Given the description of an element on the screen output the (x, y) to click on. 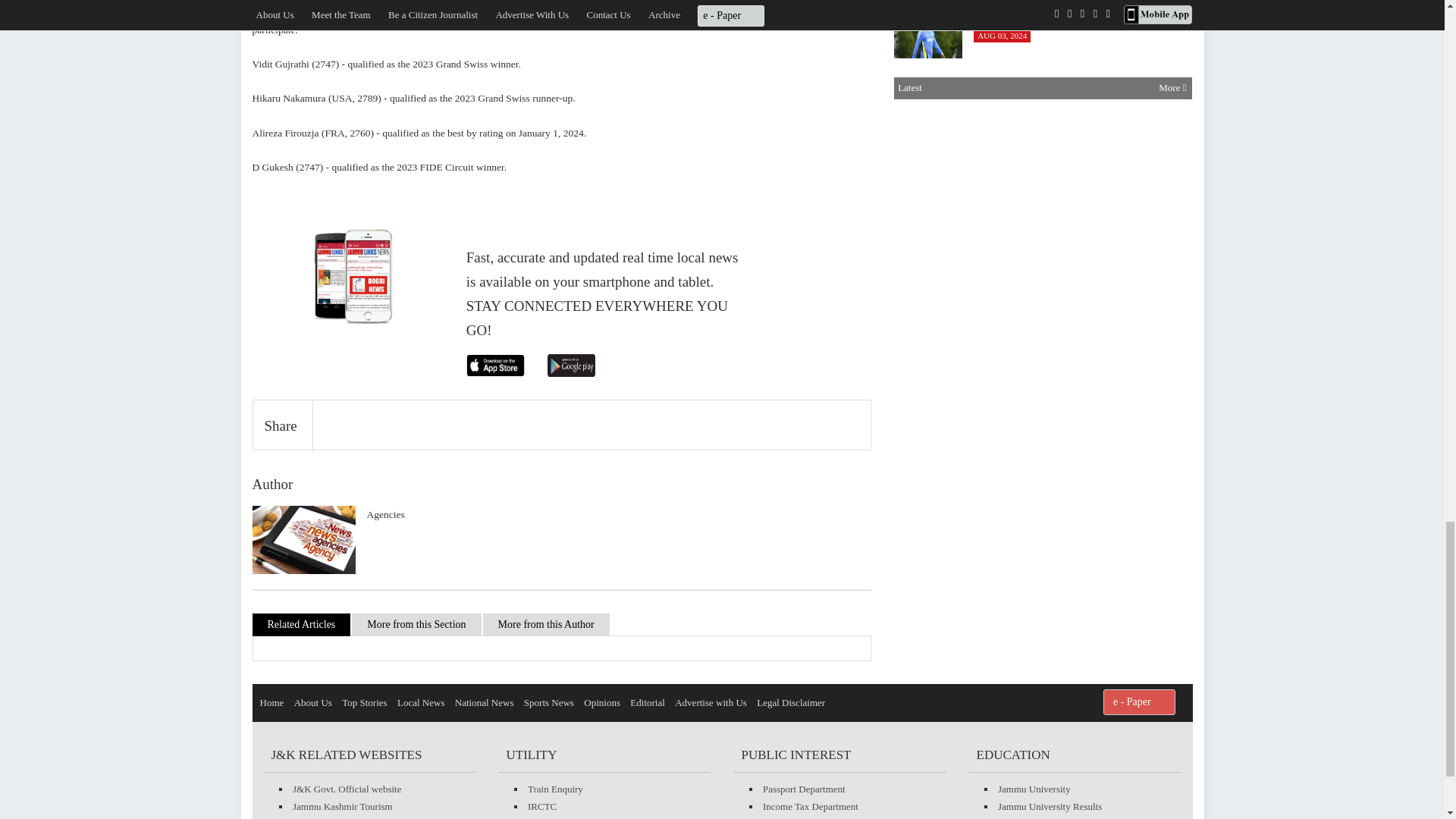
Wayanad landslides: Death toll increases to 218 (927, 177)
Army (927, 105)
AAP holds protest at LG office, demands resignati... (927, 321)
People get so fed with judicial process that they... (927, 393)
"Congress is trying to take nation on path of neg... (927, 249)
Rishabh Pant, Ishant Sharma and Harshit Rana emer... (927, 33)
